Given the description of an element on the screen output the (x, y) to click on. 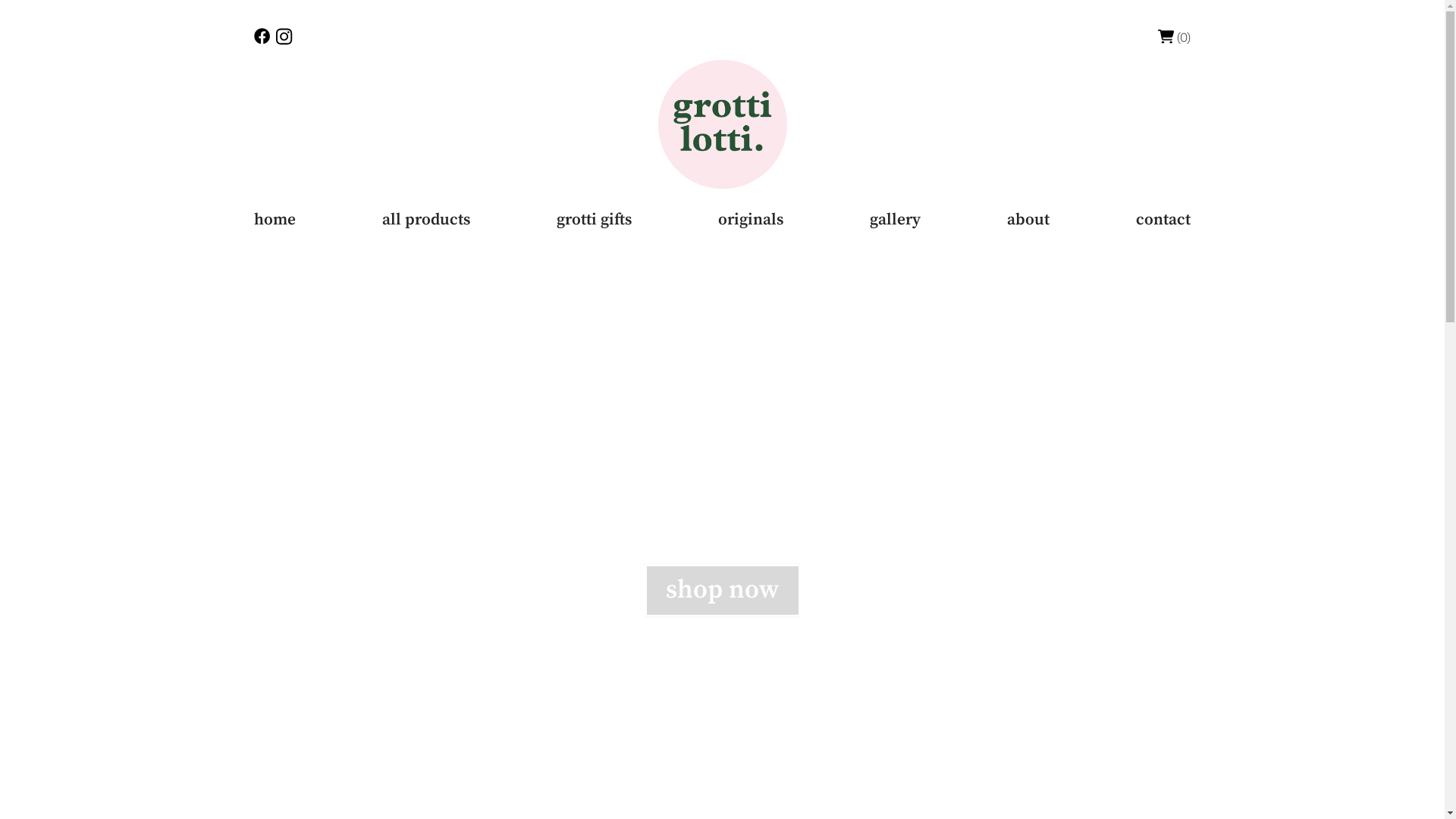
(0) Element type: text (1174, 36)
grotti gifts Element type: text (593, 219)
home Element type: text (274, 219)
about Element type: text (1028, 219)
gallery Element type: text (894, 219)
originals Element type: text (750, 219)
contact Element type: text (1162, 219)
all products Element type: text (426, 219)
